Given the description of an element on the screen output the (x, y) to click on. 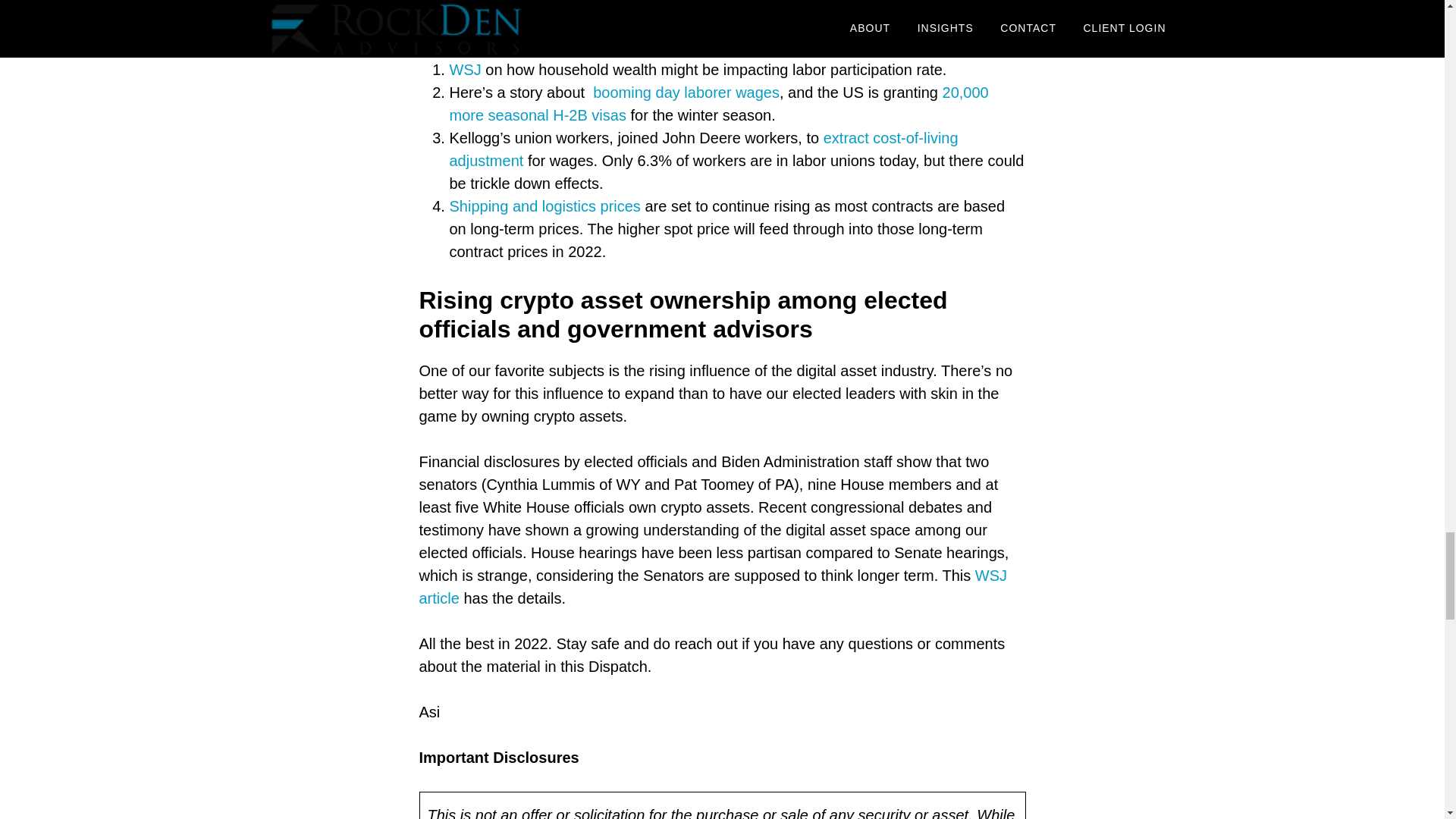
WSJ article (713, 586)
20,000 more seasonal H-2B visas (718, 103)
booming day laborer wages (685, 92)
Shipping and logistics prices (544, 206)
extract cost-of-living adjustment (703, 148)
WSJ (466, 69)
